Given the description of an element on the screen output the (x, y) to click on. 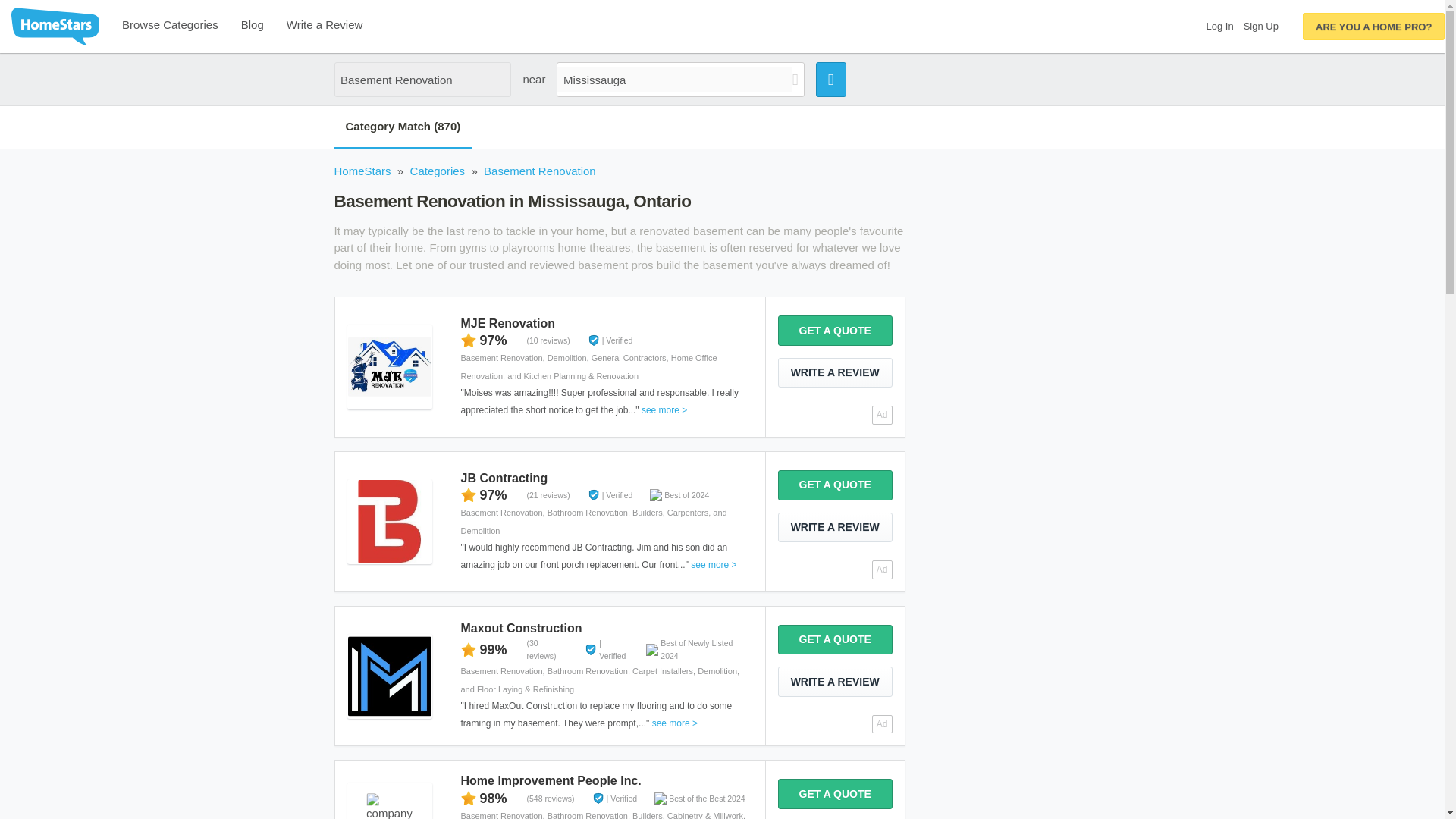
Basement Renovation (422, 79)
General Contractors, (631, 357)
Log In (1220, 25)
Maxout Construction (520, 627)
Demolition, (718, 670)
and Demolition (593, 521)
WRITE A REVIEW (834, 372)
HomeStars (361, 170)
Categories (437, 170)
Home Office Renovation, (588, 366)
Bathroom Renovation, (589, 511)
Sign Up (1260, 25)
Basement Renovation, (503, 670)
Mississauga (674, 79)
Demolition, (569, 357)
